Given the description of an element on the screen output the (x, y) to click on. 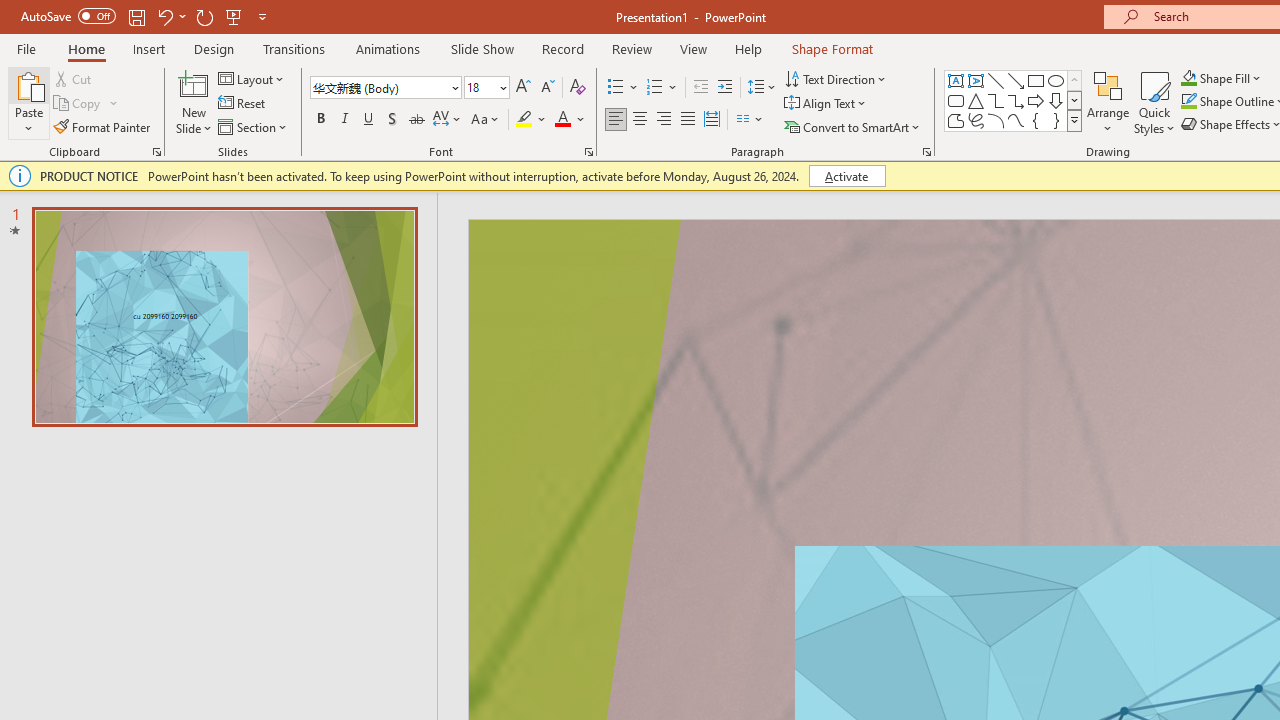
Shape Outline Dark Red, Accent 1 (1188, 101)
Activate (846, 175)
